Given the description of an element on the screen output the (x, y) to click on. 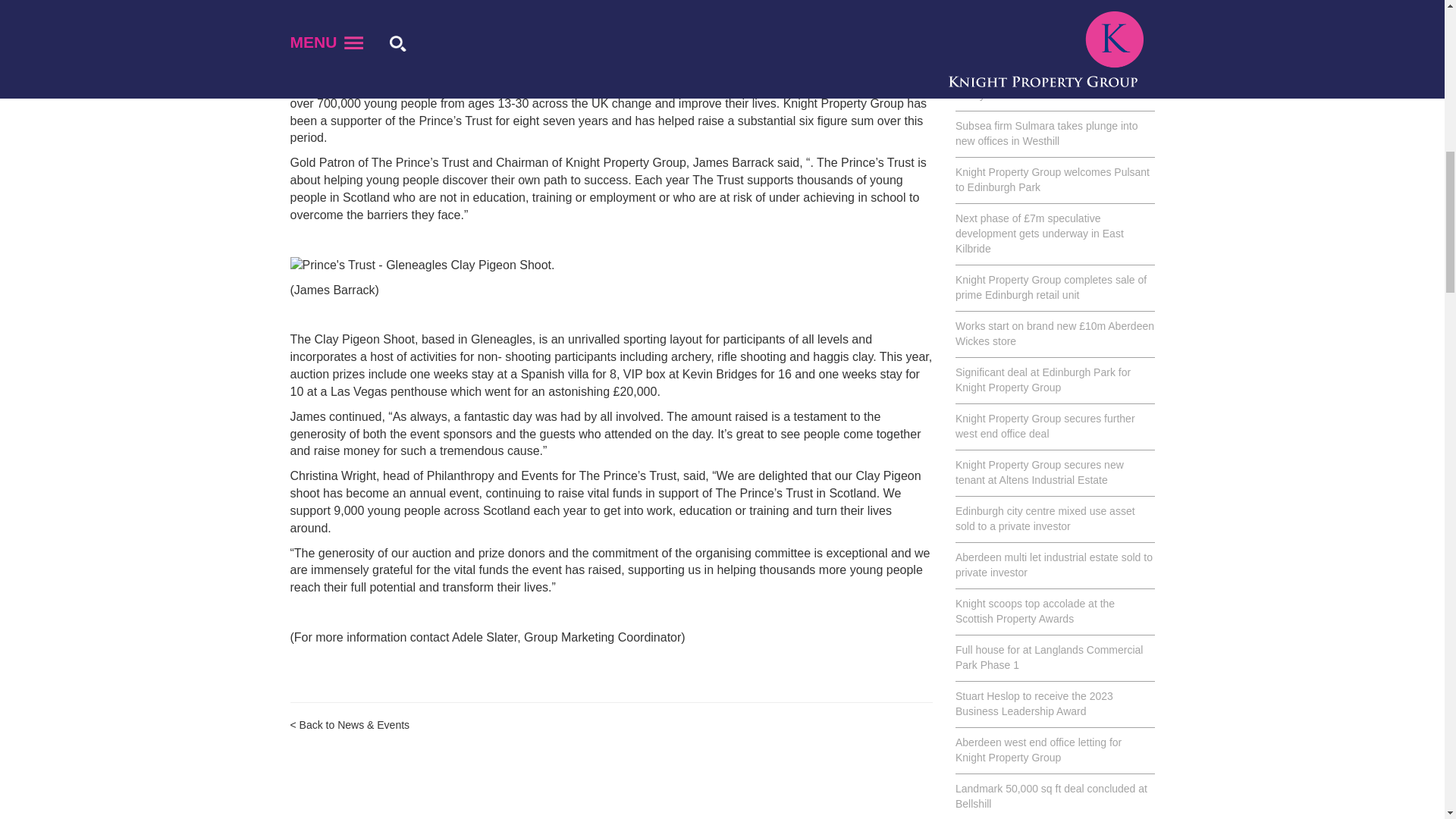
Knight Property Group welcomes Pulsant to Edinburgh Park (1054, 180)
Full house for at Langlands Commercial Park Phase 1 (1054, 657)
Knight Property Group secures further west end office deal (1054, 426)
Significant deal at Edinburgh Park for Knight Property Group (1054, 380)
